Given the description of an element on the screen output the (x, y) to click on. 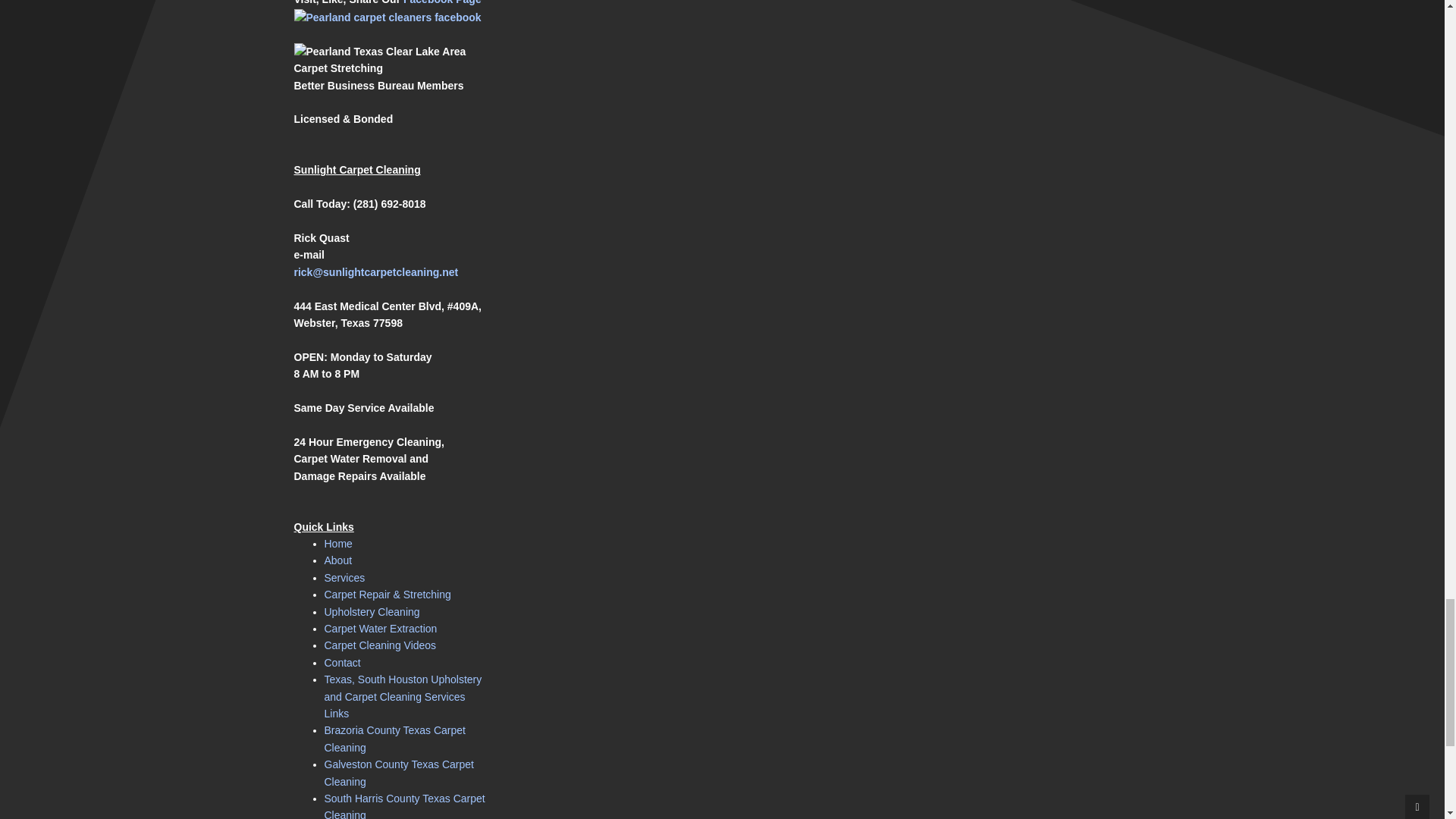
Carpet Cleaning Videos (380, 645)
Upholstery Cleaning (372, 612)
South Harris County Texas Carpet Cleaning (404, 805)
Home (338, 543)
Facebook Page (442, 2)
Carpet Water Extraction (381, 628)
Contact (342, 662)
Galveston County Texas Carpet Cleaning (399, 772)
About (338, 560)
Services (344, 577)
Brazoria County Texas Carpet Cleaning (394, 737)
